Given the description of an element on the screen output the (x, y) to click on. 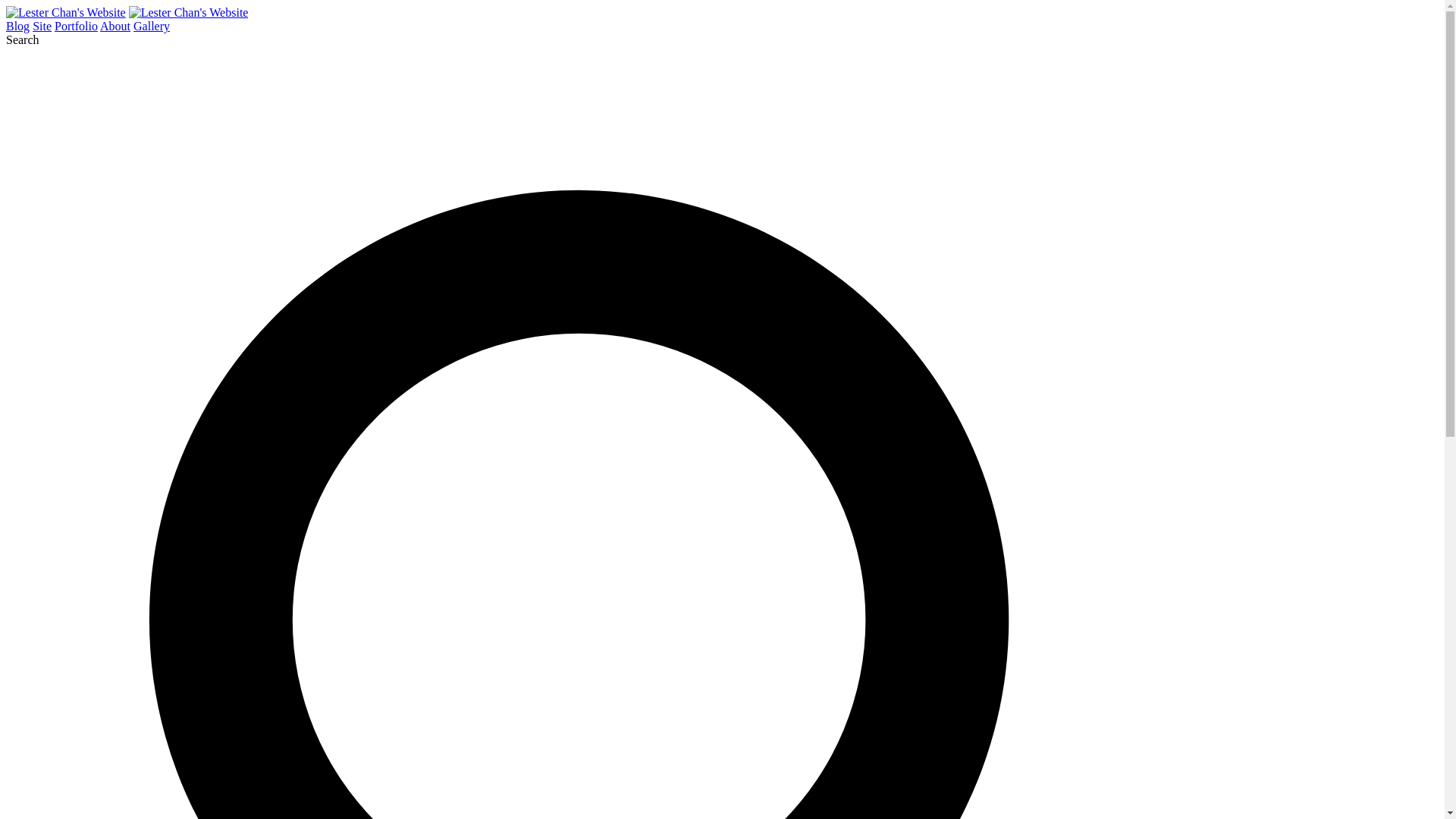
Gallery (151, 25)
Blog (17, 25)
Lester Chan's Website (65, 11)
Lester Chan's Website (188, 11)
About (115, 25)
Portfolio (76, 25)
Site (41, 25)
